Given the description of an element on the screen output the (x, y) to click on. 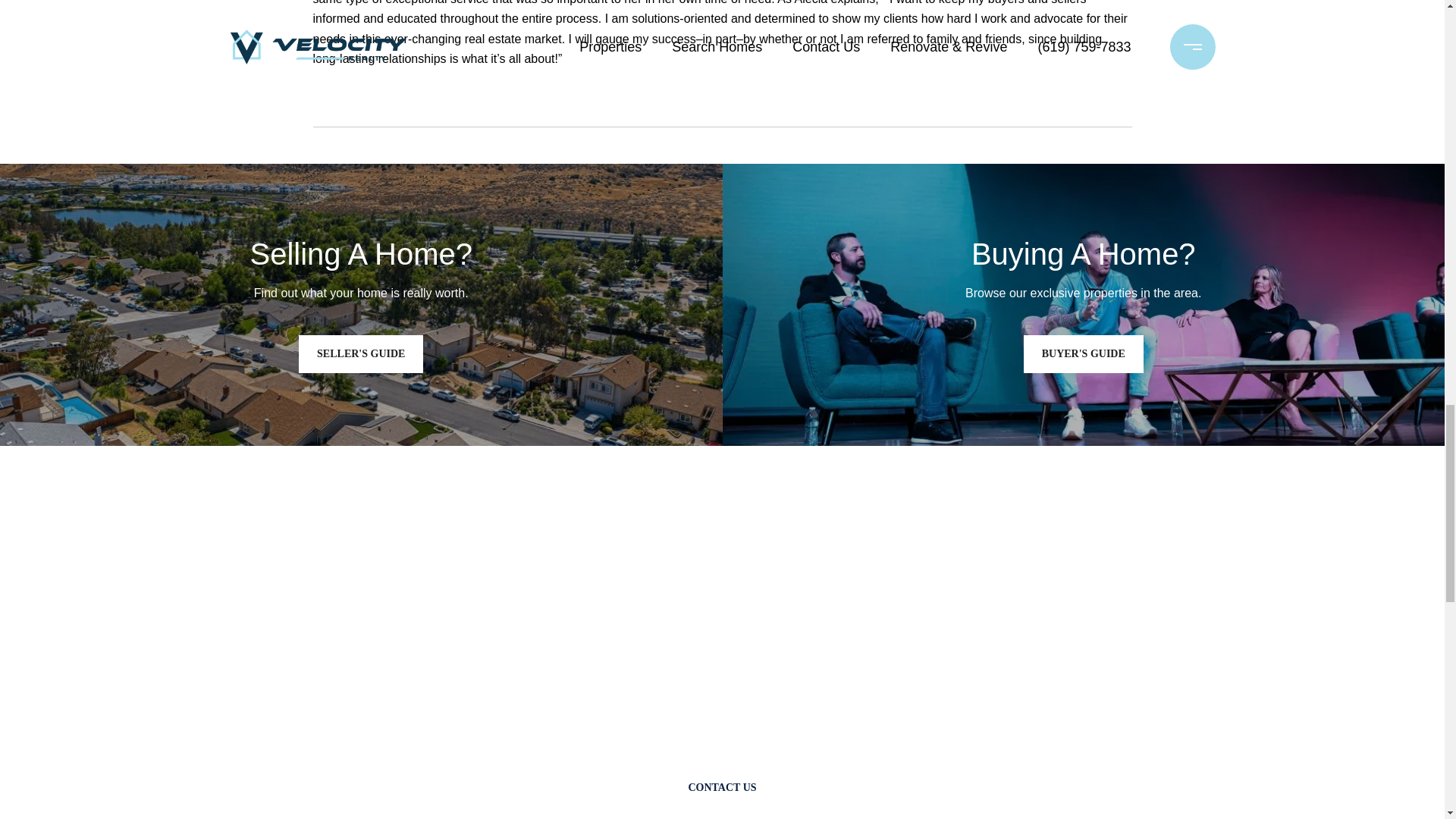
BUYER'S GUIDE (1082, 353)
SELLER'S GUIDE (360, 353)
CONTACT US (721, 787)
